Given the description of an element on the screen output the (x, y) to click on. 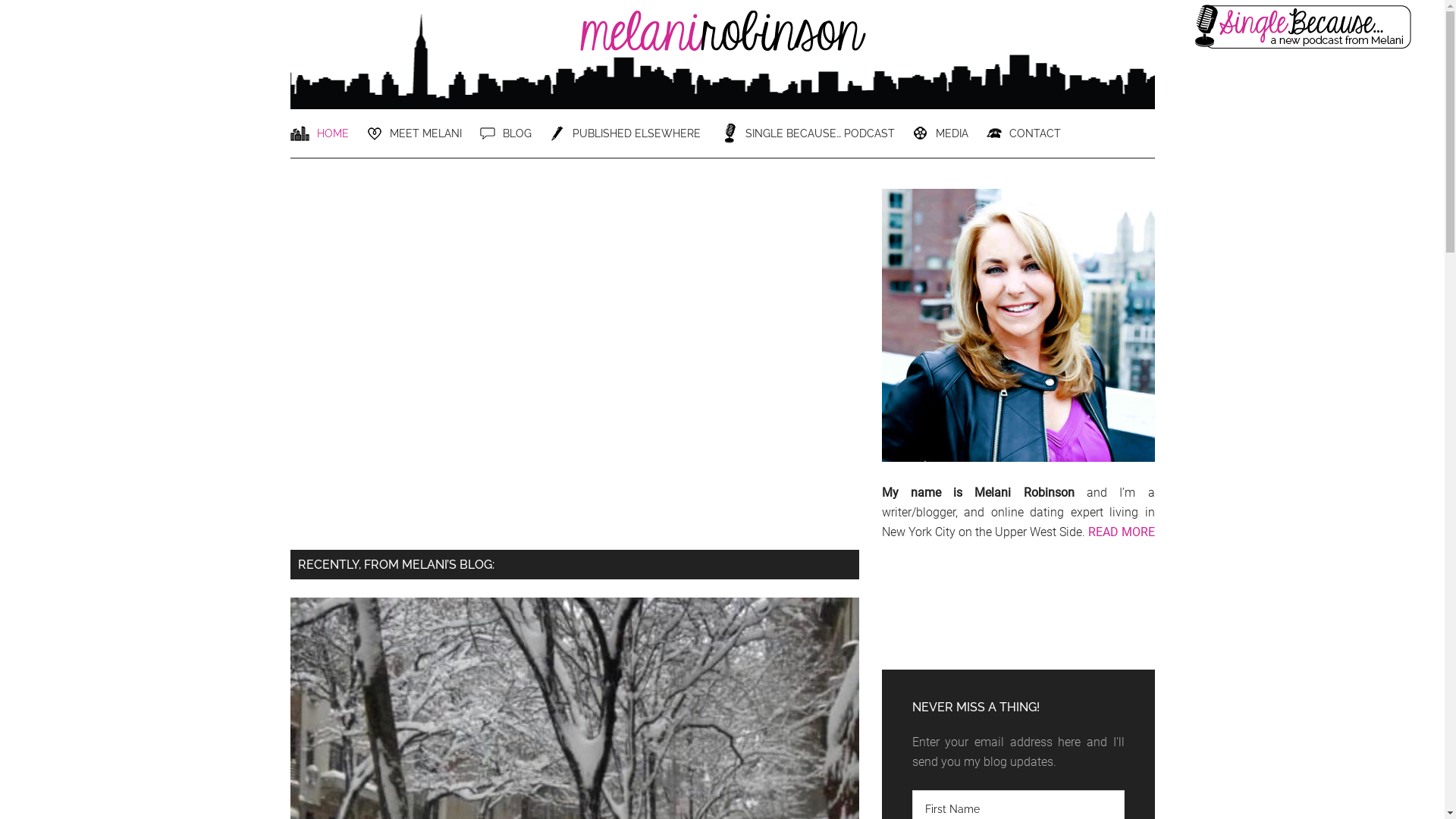
READ MORE Element type: text (1120, 531)
MELANI ROBINSON Element type: text (721, 44)
PUBLISHED ELSEWHERE Element type: text (632, 133)
HOME Element type: text (326, 133)
MEDIA Element type: text (948, 133)
BLOG Element type: text (512, 133)
MEET MELANI Element type: text (421, 133)
CONTACT Element type: text (1030, 133)
Meet Melani Element type: hover (1017, 327)
